Given the description of an element on the screen output the (x, y) to click on. 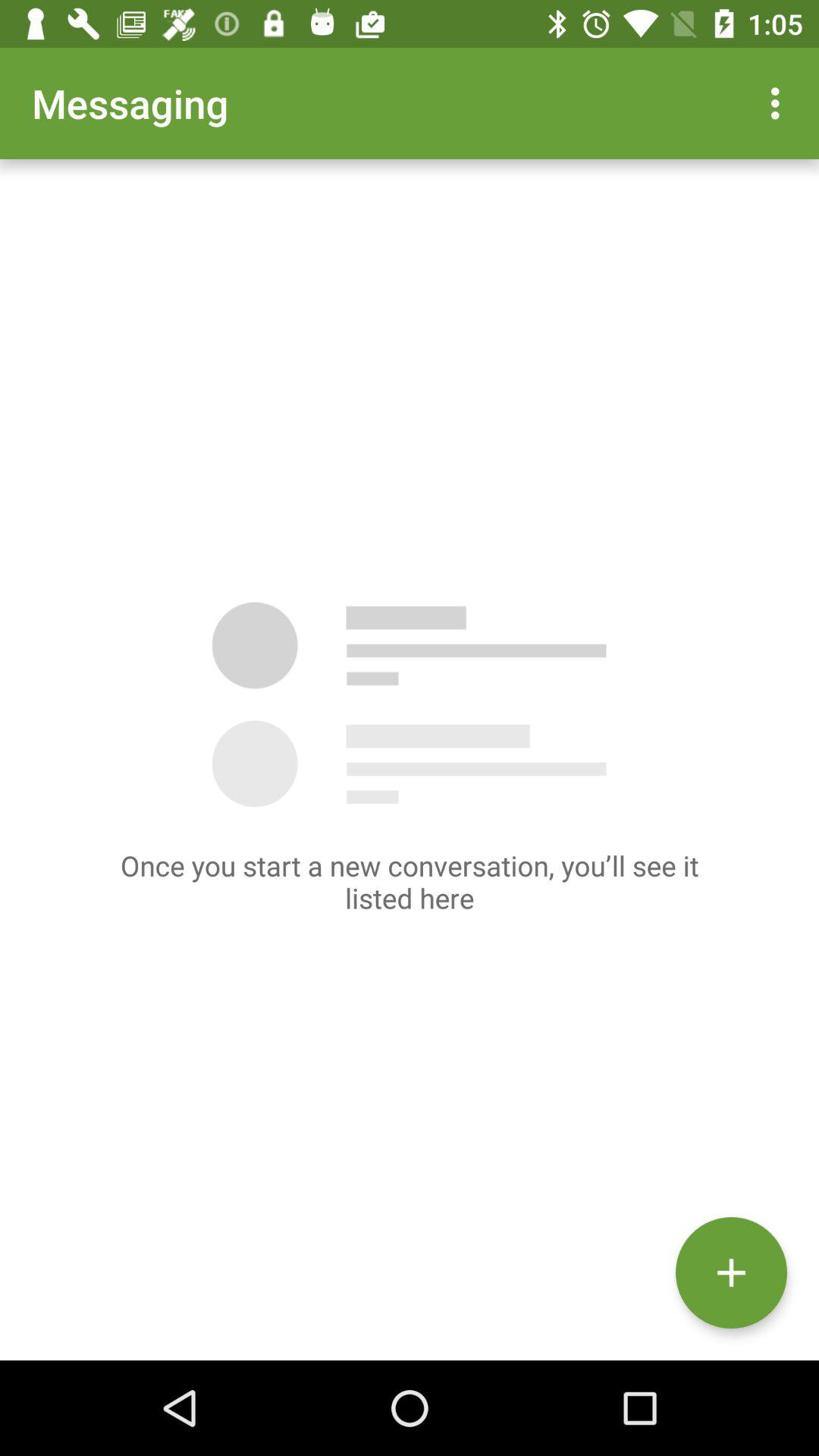
click item at the top right corner (779, 103)
